Given the description of an element on the screen output the (x, y) to click on. 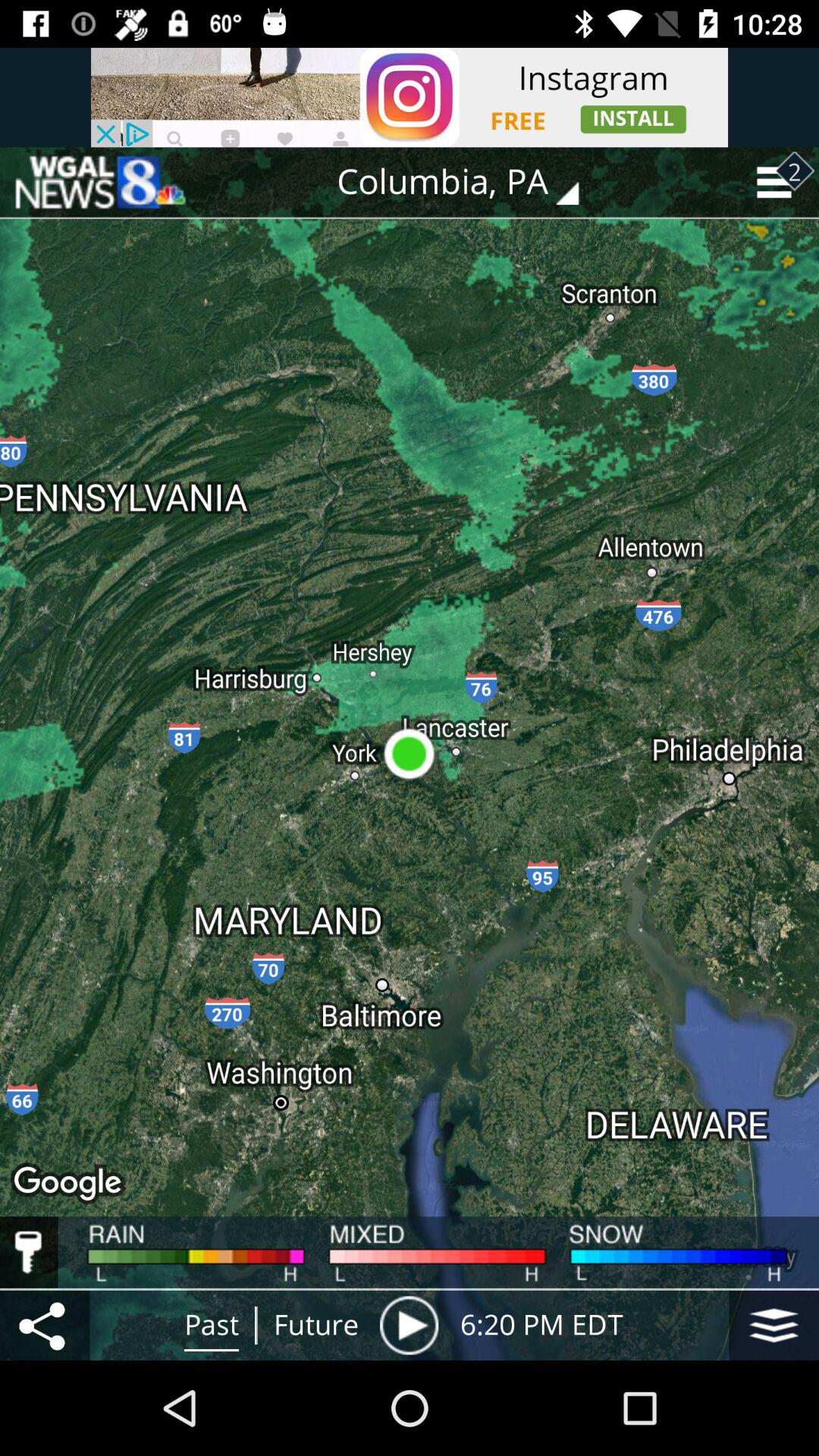
click item next to the future item (409, 1325)
